Given the description of an element on the screen output the (x, y) to click on. 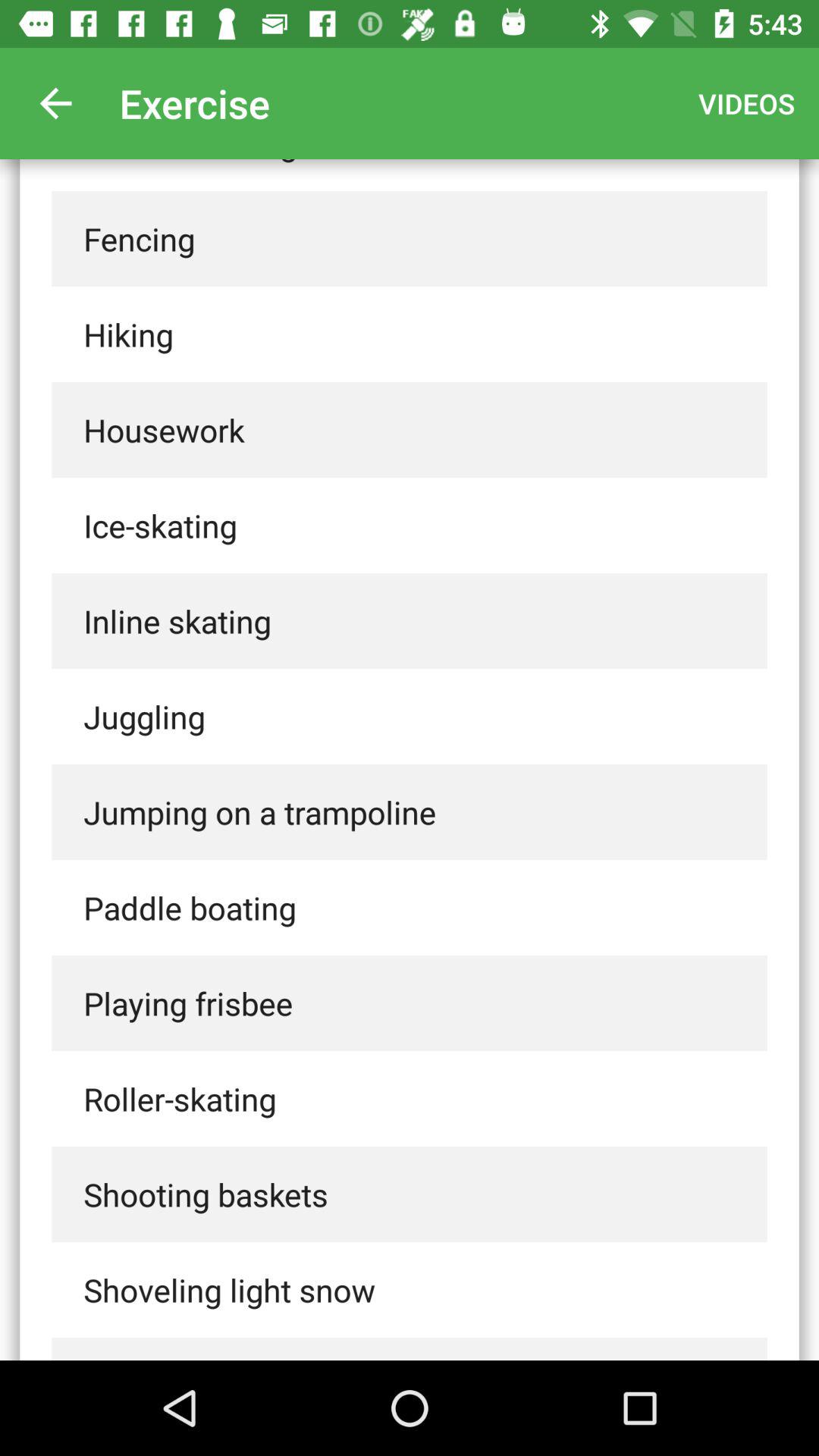
option videos in top right corner (746, 103)
